Given the description of an element on the screen output the (x, y) to click on. 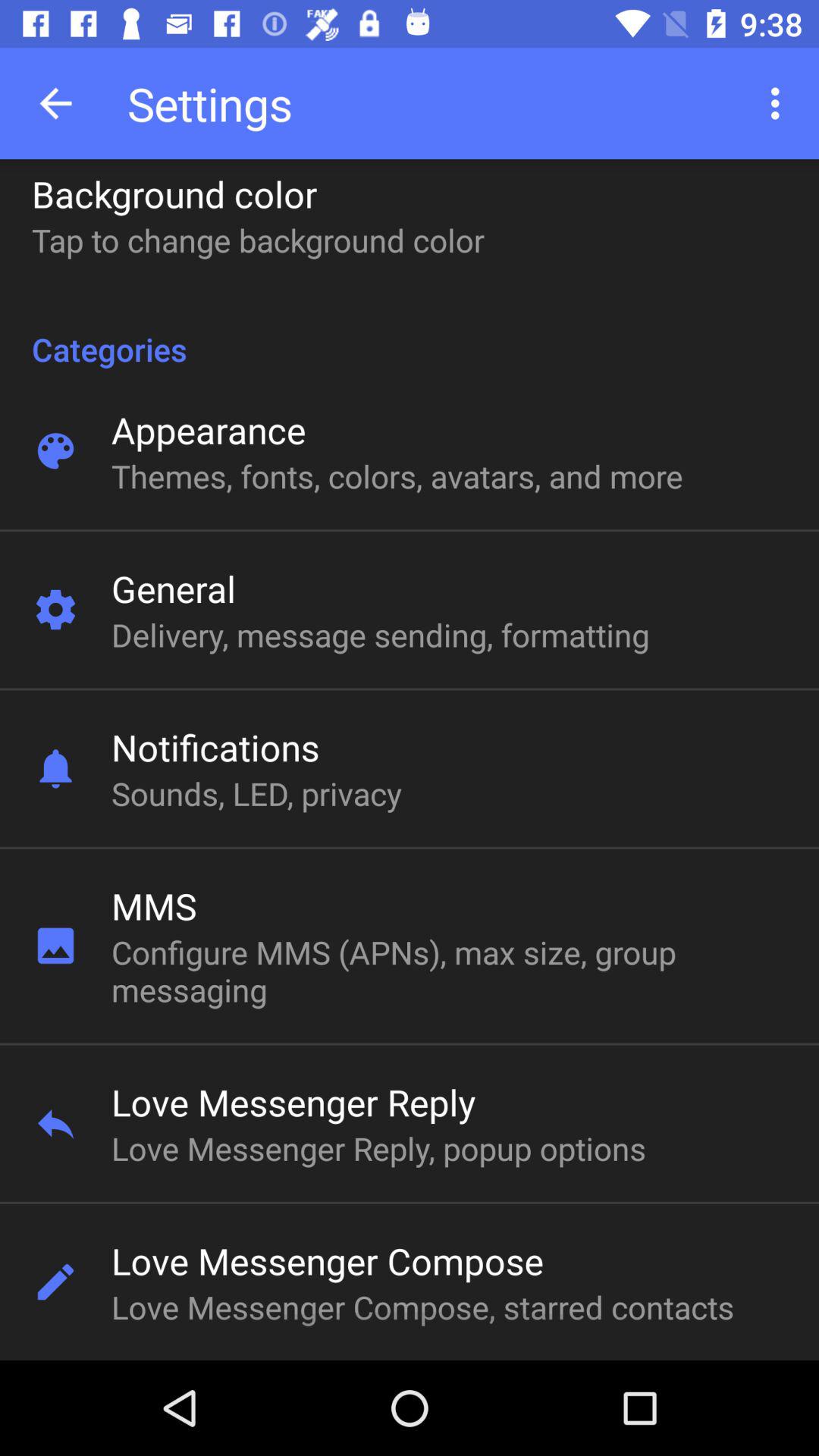
open the item next to settings item (55, 103)
